Given the description of an element on the screen output the (x, y) to click on. 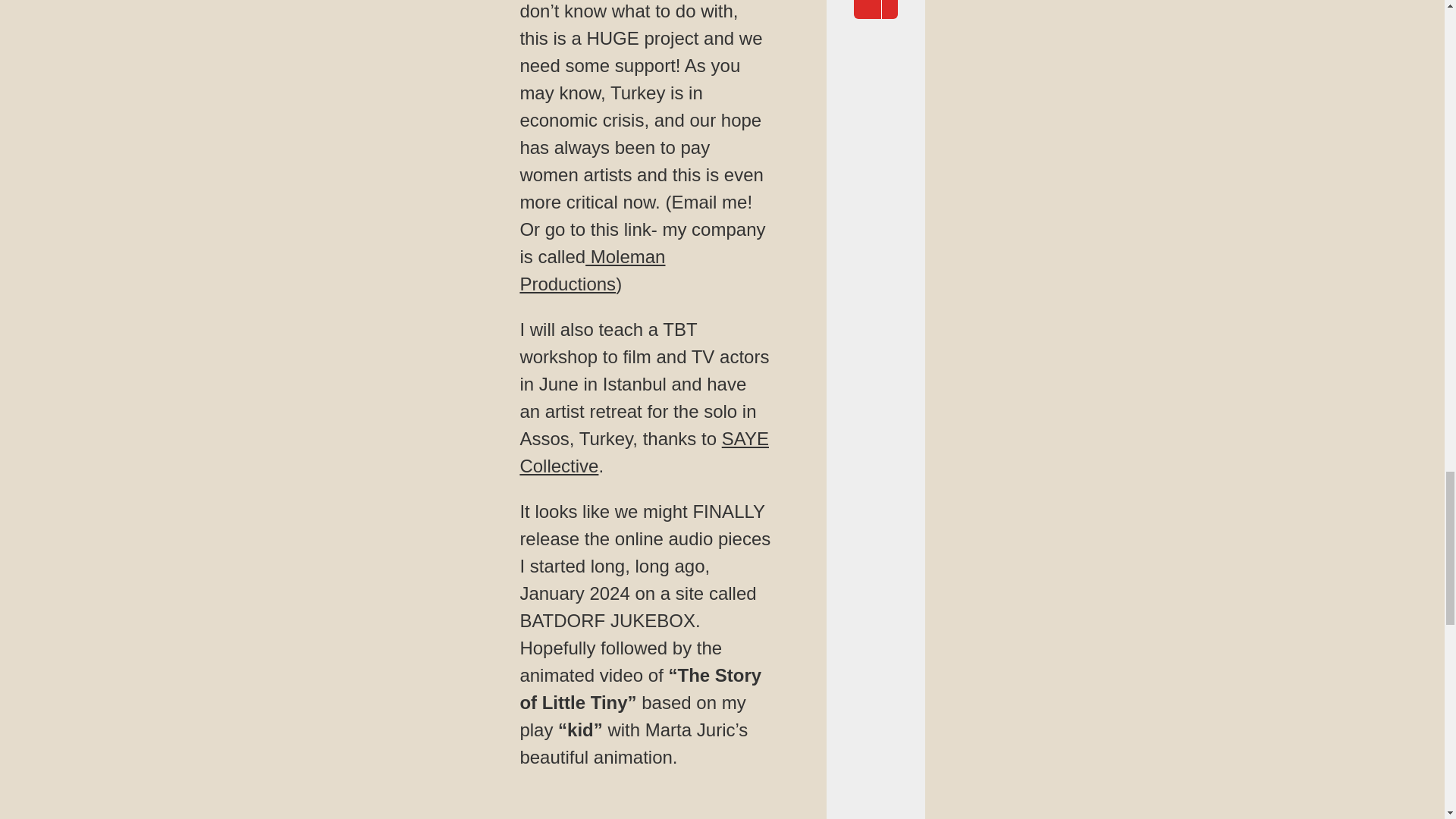
SAYE Collective (643, 451)
Moleman Productions (592, 270)
